Given the description of an element on the screen output the (x, y) to click on. 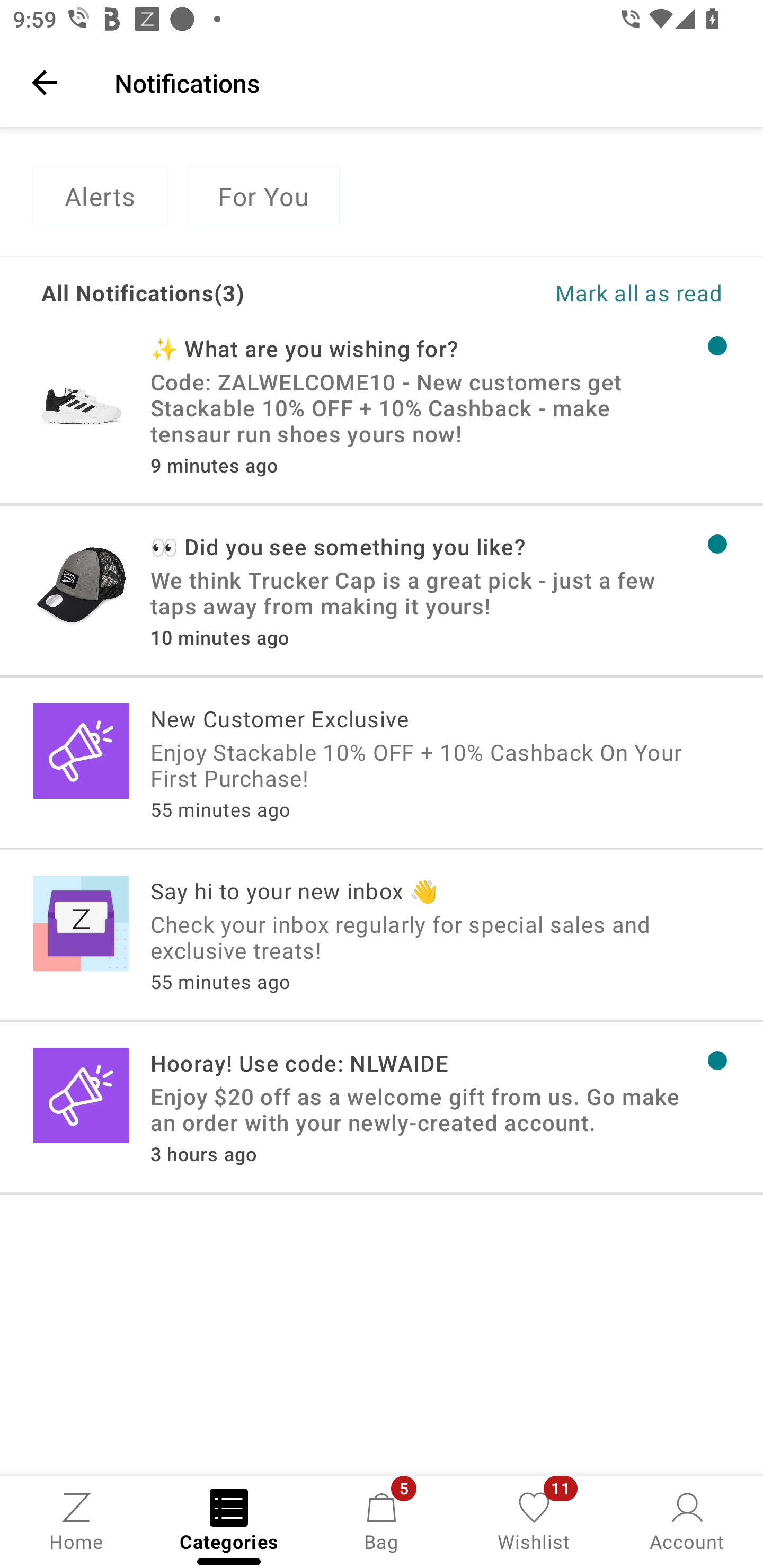
Navigate up (44, 82)
Notifications (426, 82)
Alerts (99, 196)
For You (262, 196)
Mark all as read (551, 292)
Home (76, 1519)
Bag, 5 new notifications Bag (381, 1519)
Wishlist, 11 new notifications Wishlist (533, 1519)
Account (686, 1519)
